Given the description of an element on the screen output the (x, y) to click on. 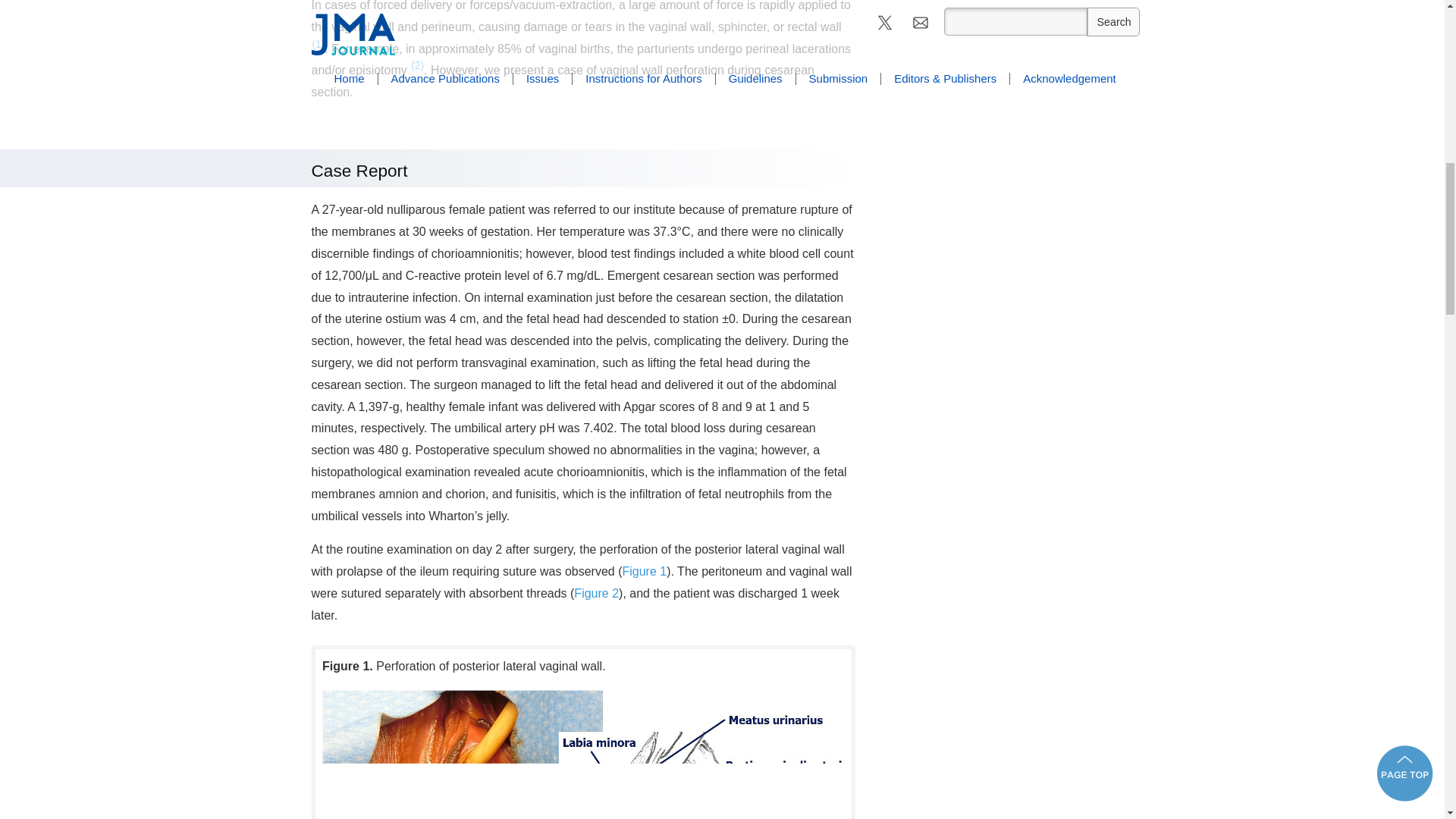
Figure 1 (643, 571)
Figure 2 (595, 593)
